Given the description of an element on the screen output the (x, y) to click on. 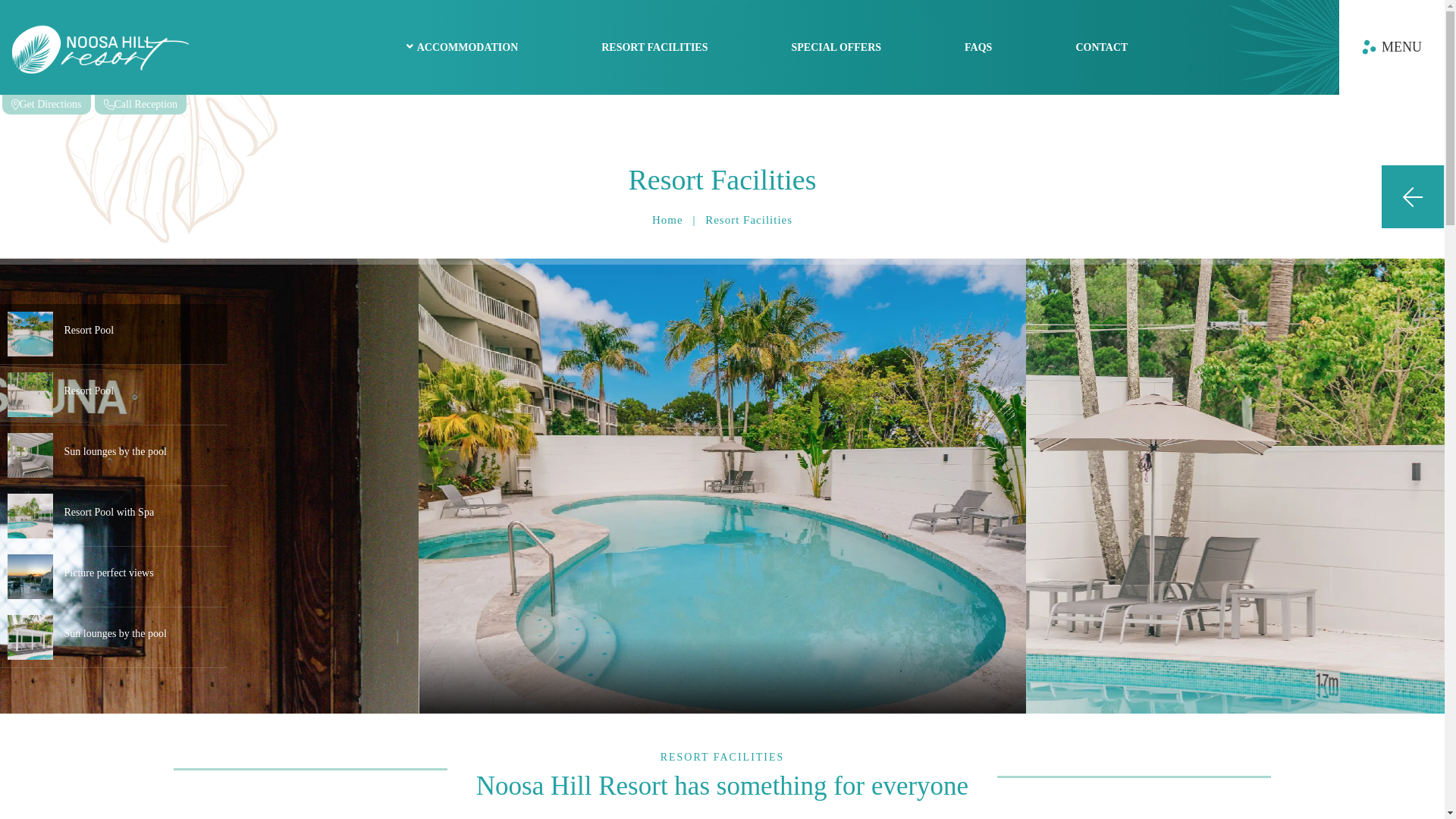
Call Reception Element type: text (140, 104)
RESORT FACILITIES Element type: text (654, 46)
MENU Element type: text (1391, 47)
SPECIAL OFFERS Element type: text (835, 46)
CONTACT Element type: text (1101, 46)
Resort Facilities Element type: text (721, 179)
Get Directions Element type: text (46, 9)
FAQS Element type: text (977, 46)
Home Element type: text (667, 219)
Call Reception Element type: text (140, 9)
ACCOMMODATION Element type: text (461, 46)
Get Directions Element type: text (45, 104)
